Given the description of an element on the screen output the (x, y) to click on. 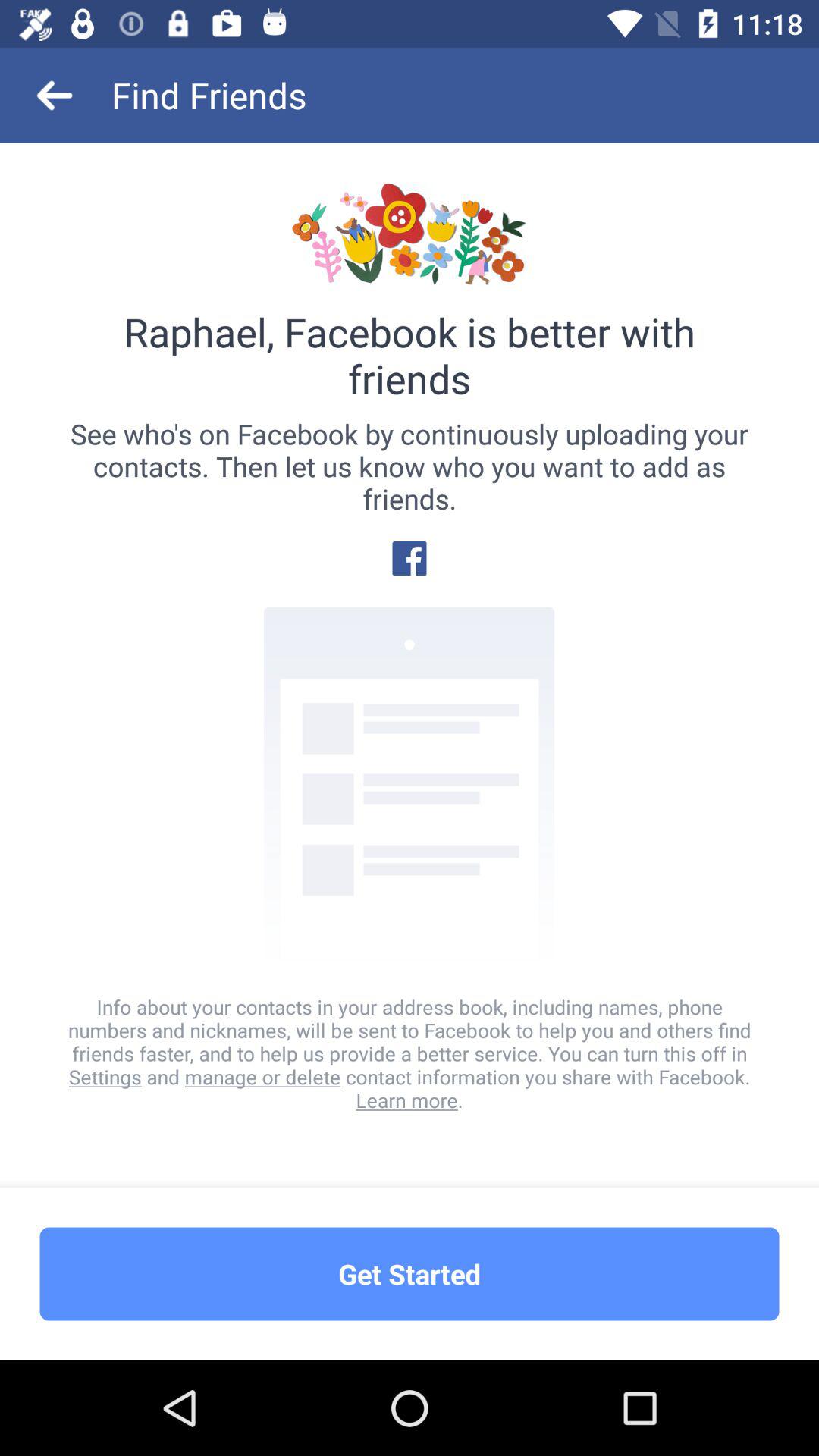
flip to info about your icon (409, 1053)
